Given the description of an element on the screen output the (x, y) to click on. 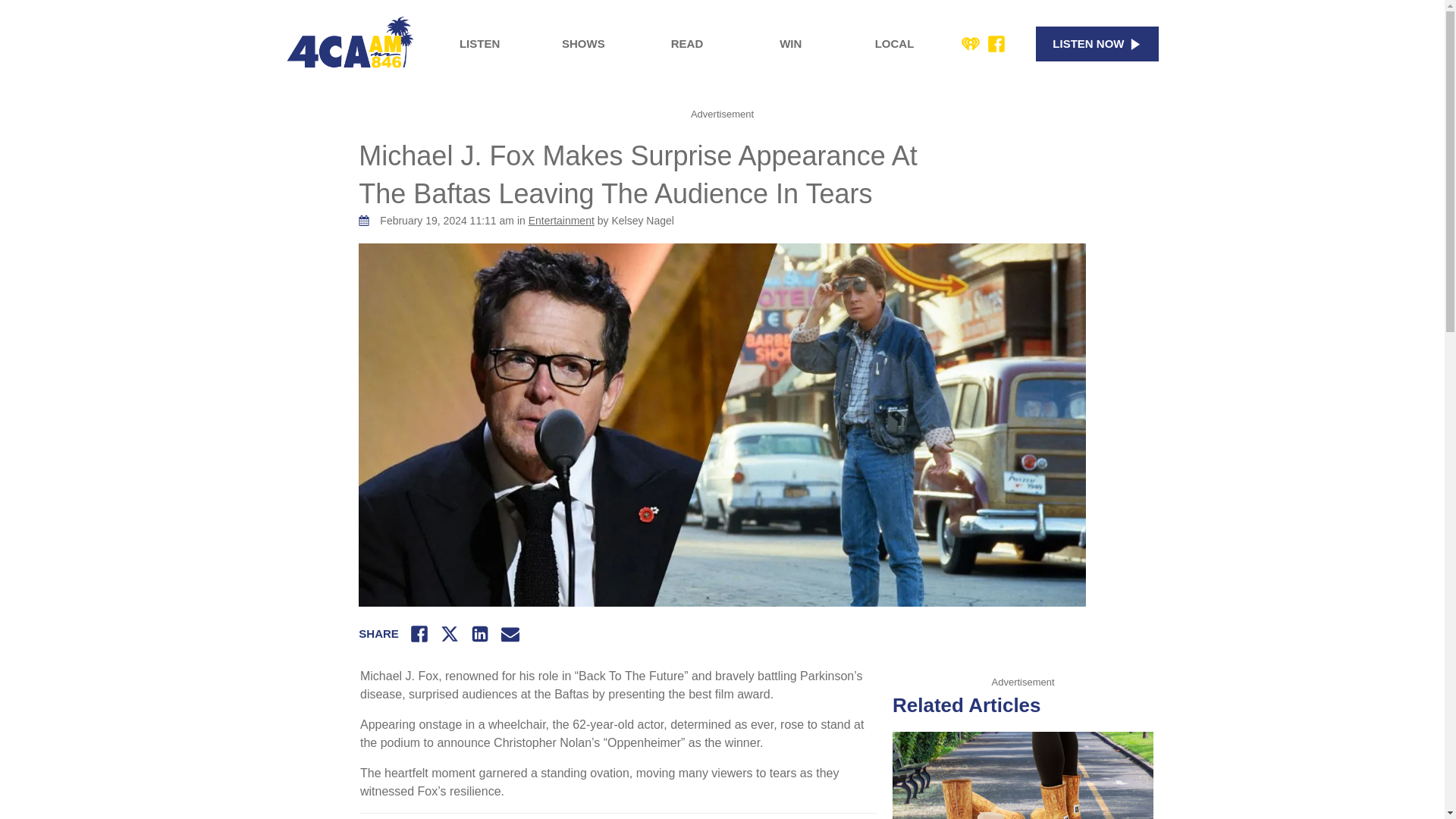
SHOWS (582, 43)
LISTEN (479, 43)
iHeart (969, 44)
WIN (790, 43)
Facebook (996, 44)
LOCAL (894, 43)
LISTEN NOW (1096, 44)
READ (686, 43)
